Given the description of an element on the screen output the (x, y) to click on. 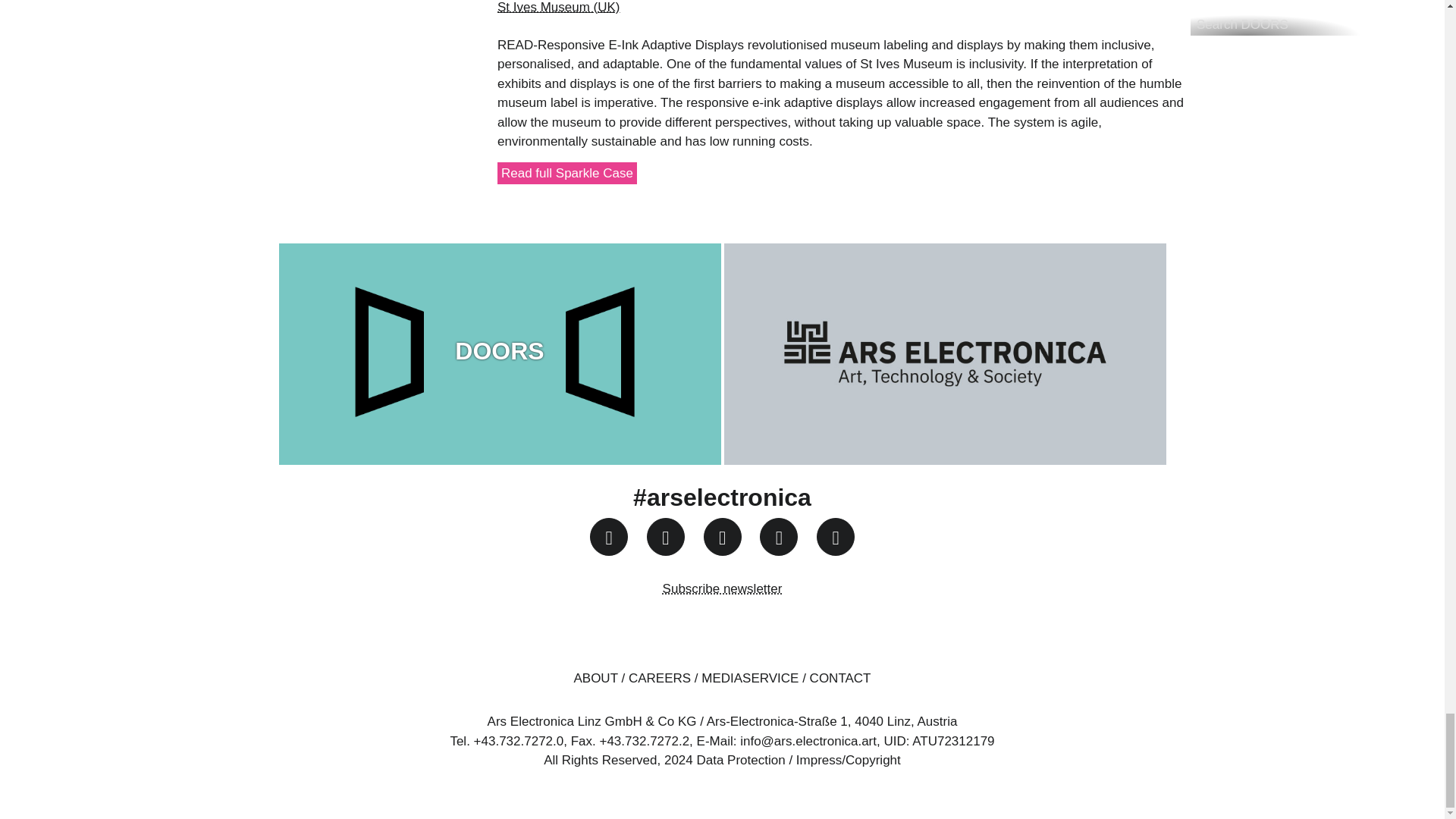
YouTube (722, 536)
Instagram (608, 536)
Facebook (665, 536)
